Given the description of an element on the screen output the (x, y) to click on. 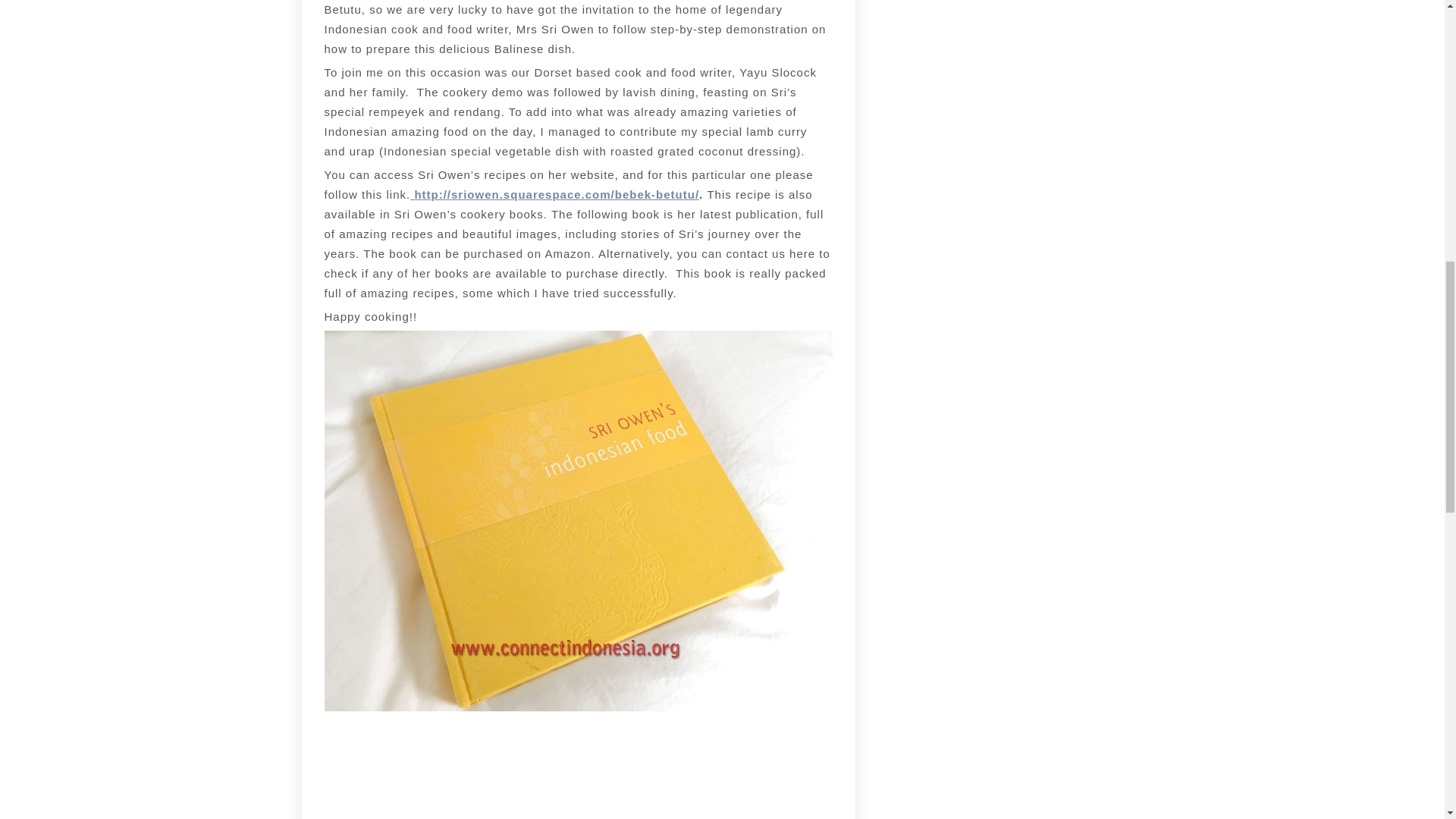
Bebek-betutu-02 (747, 766)
Bebek-betutu (408, 766)
Bebek-betutu-01 (578, 766)
